Given the description of an element on the screen output the (x, y) to click on. 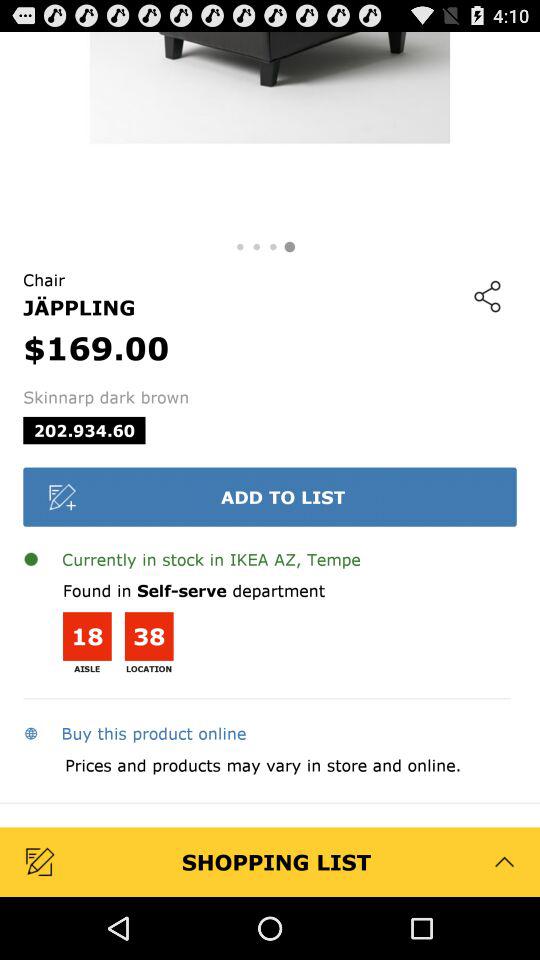
share the product (487, 296)
